Given the description of an element on the screen output the (x, y) to click on. 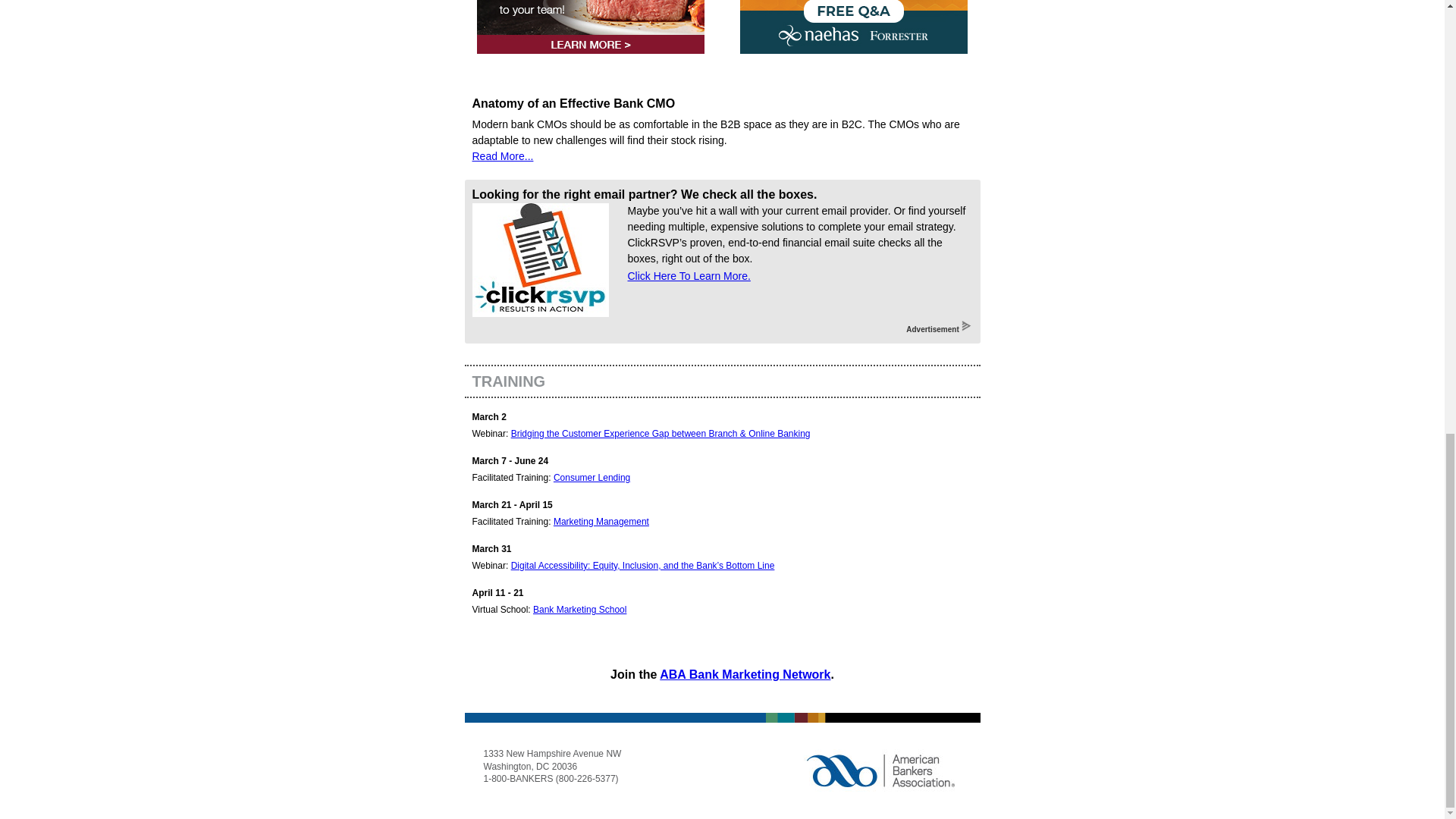
ABA Bank Marketing Network (744, 674)
Click Here To Learn More. (689, 275)
Looking for the right email partner? We check all the boxes. (643, 194)
Anatomy of an Effective Bank CMO (573, 103)
Consumer Lending (591, 477)
Bank Marketing School (579, 609)
Marketing Management (601, 521)
Read More... (501, 155)
American Bankers Association (878, 770)
